Given the description of an element on the screen output the (x, y) to click on. 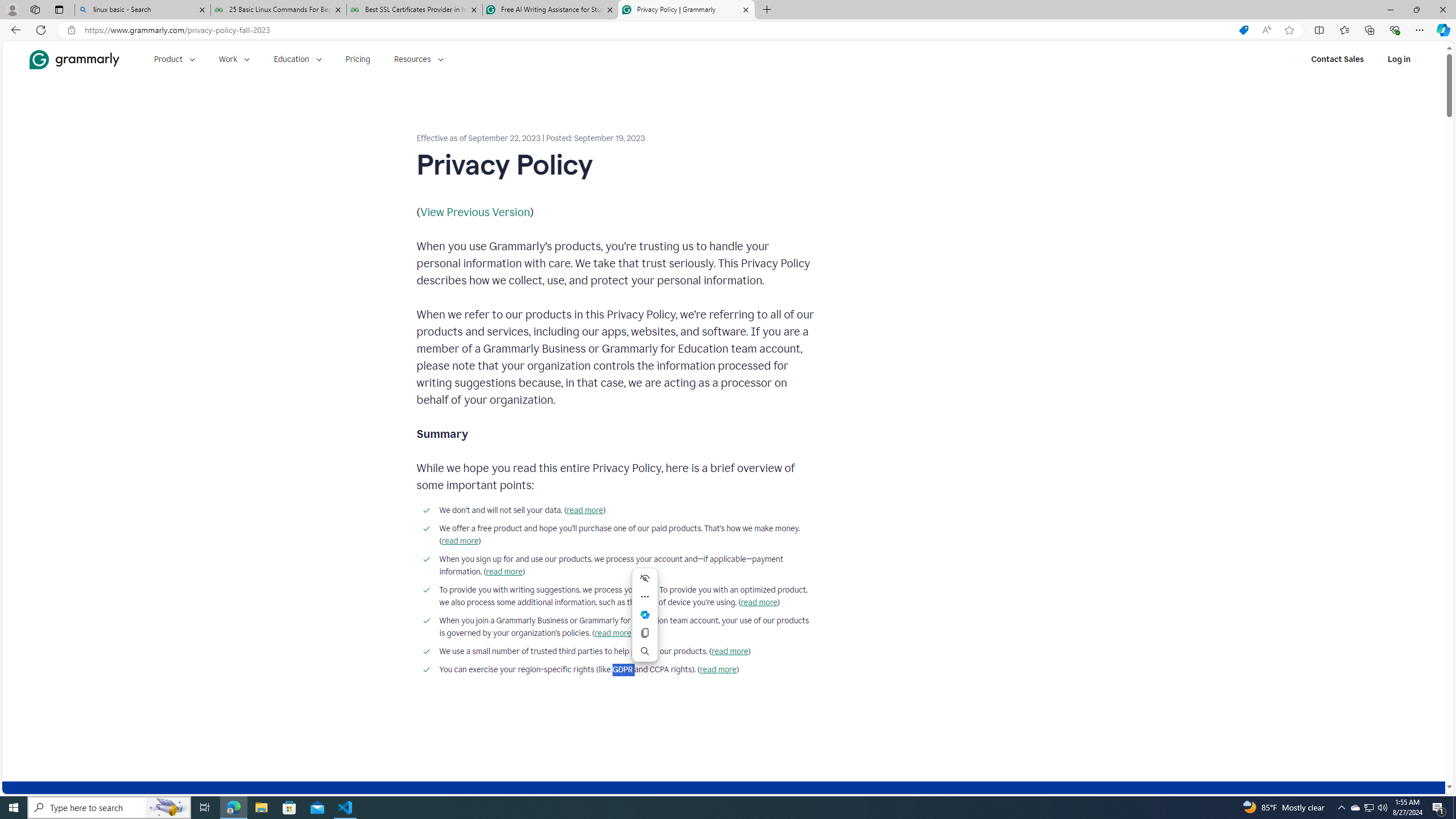
Product (174, 58)
Product (174, 58)
Education (297, 58)
Pricing (357, 58)
Privacy Policy | Grammarly (685, 9)
Pricing (357, 58)
